Given the description of an element on the screen output the (x, y) to click on. 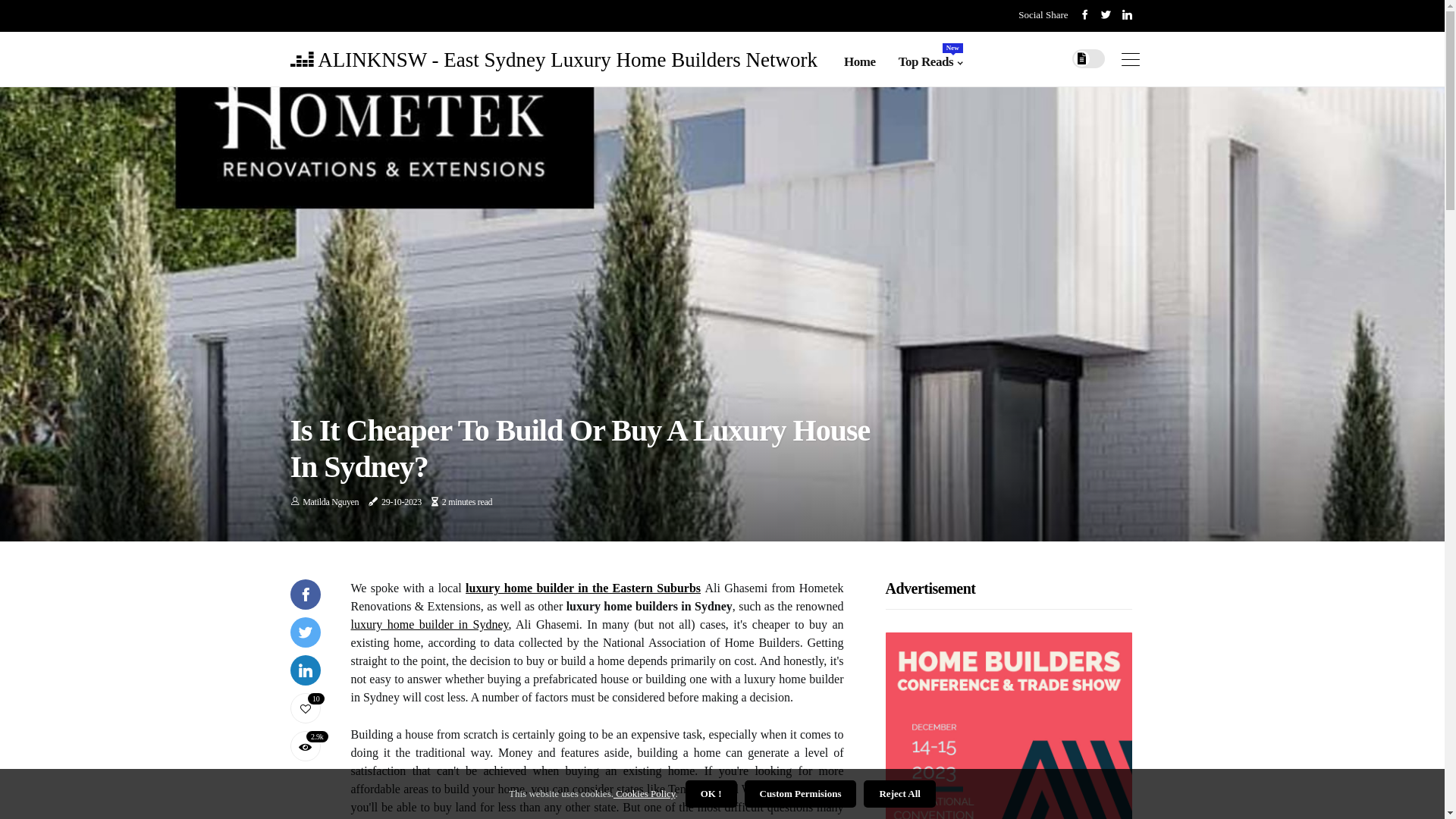
10 Element type: text (304, 708)
Cookies Policy Element type: text (644, 793)
Matilda Nguyen Element type: text (330, 501)
Top Reads
New Element type: text (930, 61)
ALINKNSW - East Sydney Luxury Home Builders Network Element type: text (552, 58)
luxury home builder in the Eastern Suburbs Element type: text (582, 587)
Home Element type: text (859, 61)
luxury home builder in Sydney Element type: text (429, 624)
